Given the description of an element on the screen output the (x, y) to click on. 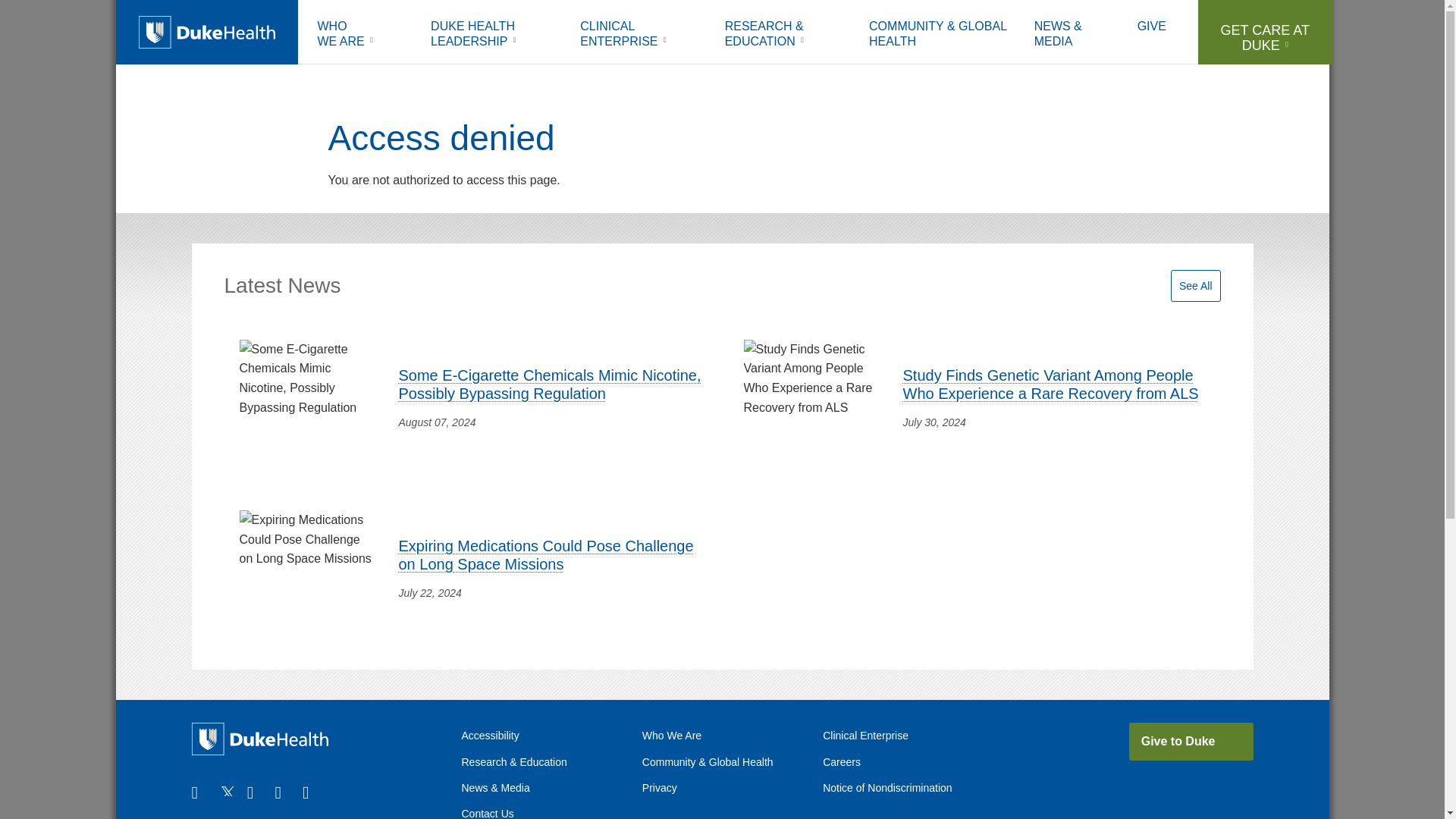
CLINICAL ENTERPRISE (641, 35)
DUKE HEALTH LEADERSHIP (494, 35)
